Given the description of an element on the screen output the (x, y) to click on. 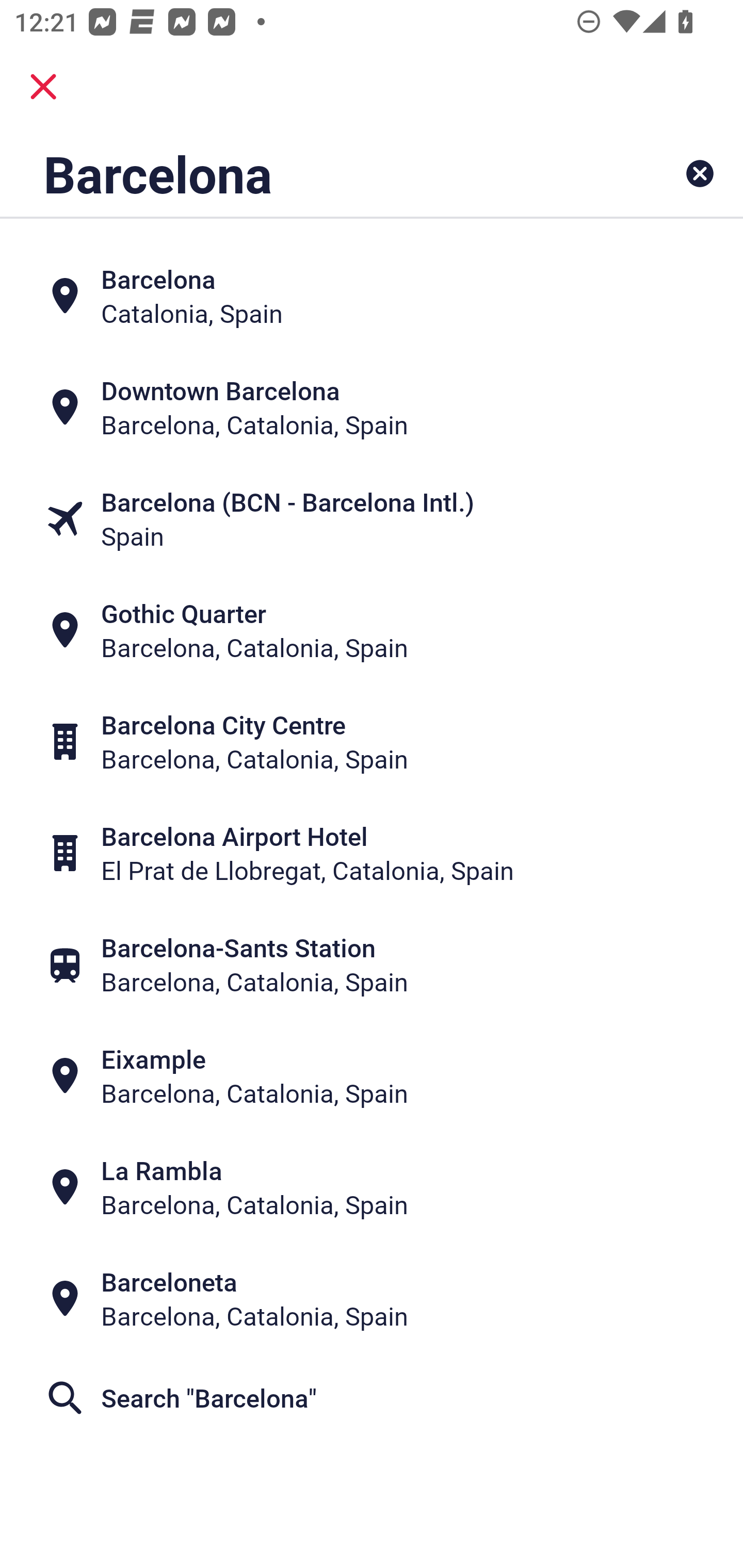
close. (43, 86)
Clear (699, 173)
Barcelona (306, 173)
Barcelona Catalonia, Spain (371, 295)
Downtown Barcelona Barcelona, Catalonia, Spain (371, 406)
Barcelona (BCN - Barcelona Intl.) Spain (371, 517)
Gothic Quarter Barcelona, Catalonia, Spain (371, 629)
Barcelona City Centre Barcelona, Catalonia, Spain (371, 742)
Eixample Barcelona, Catalonia, Spain (371, 1076)
La Rambla Barcelona, Catalonia, Spain (371, 1187)
Barceloneta Barcelona, Catalonia, Spain (371, 1298)
Search "Barcelona" (371, 1397)
